Given the description of an element on the screen output the (x, y) to click on. 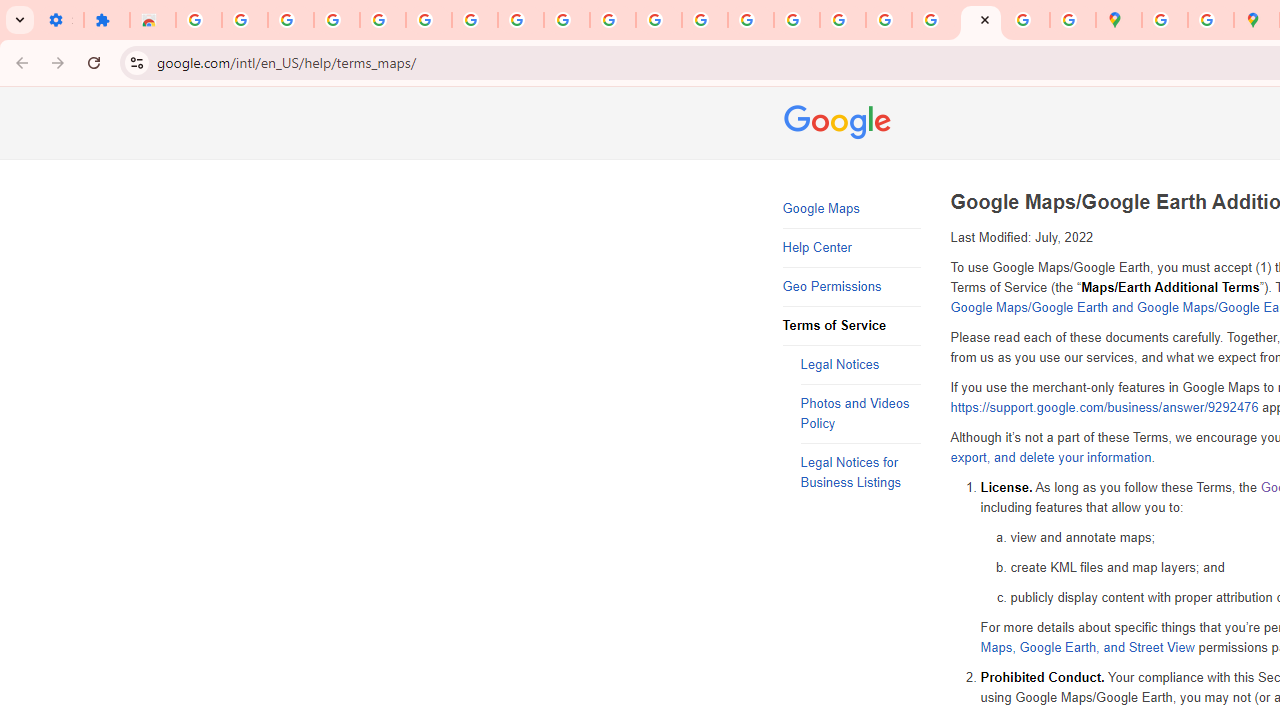
Google Account Help (474, 20)
Settings - On startup (60, 20)
Create your Google Account (1210, 20)
YouTube (613, 20)
Legal Notices for Business Listings (860, 473)
https://support.google.com/business/answer/9292476 (1104, 408)
